Given the description of an element on the screen output the (x, y) to click on. 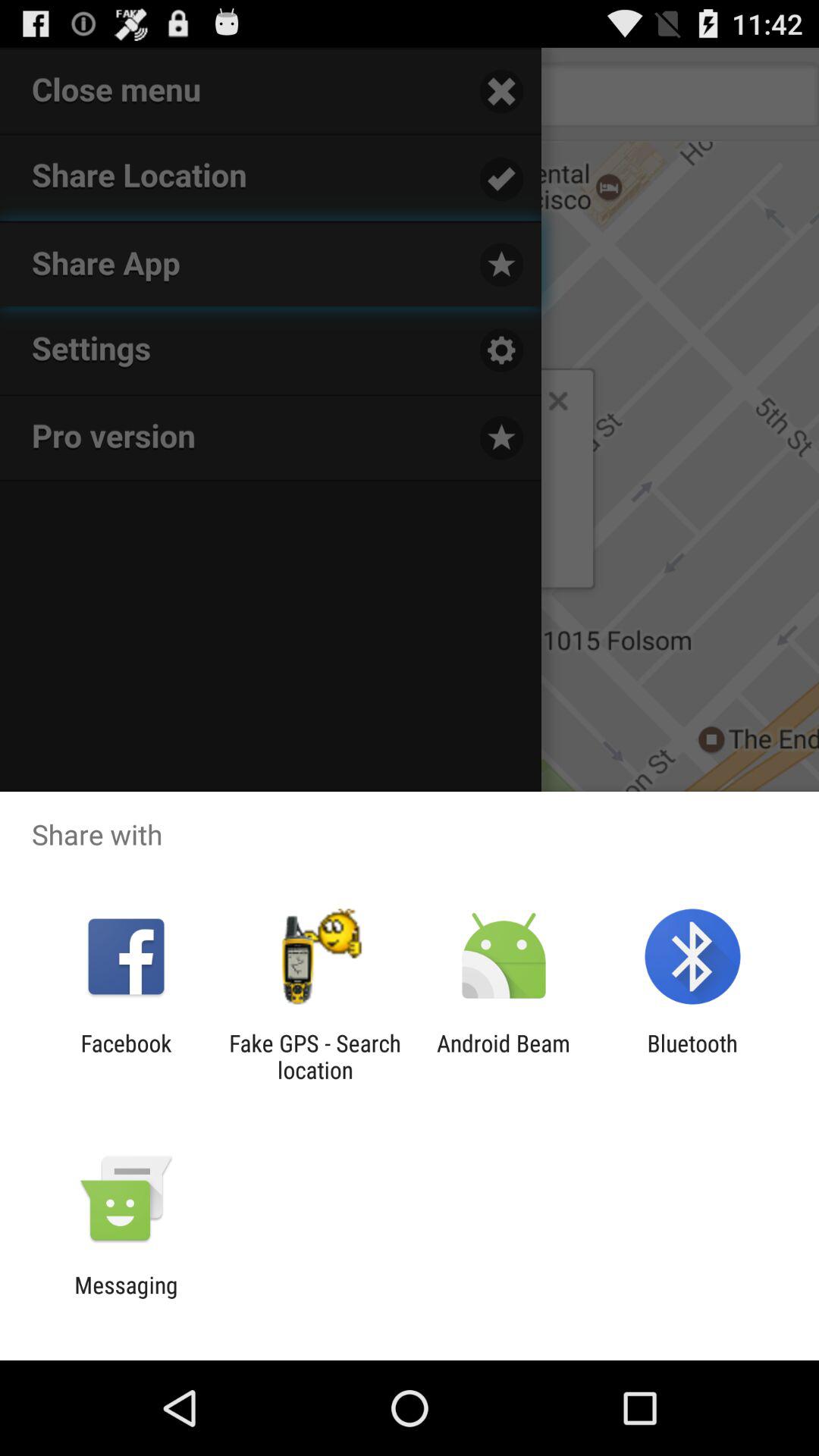
tap the bluetooth at the bottom right corner (692, 1056)
